Given the description of an element on the screen output the (x, y) to click on. 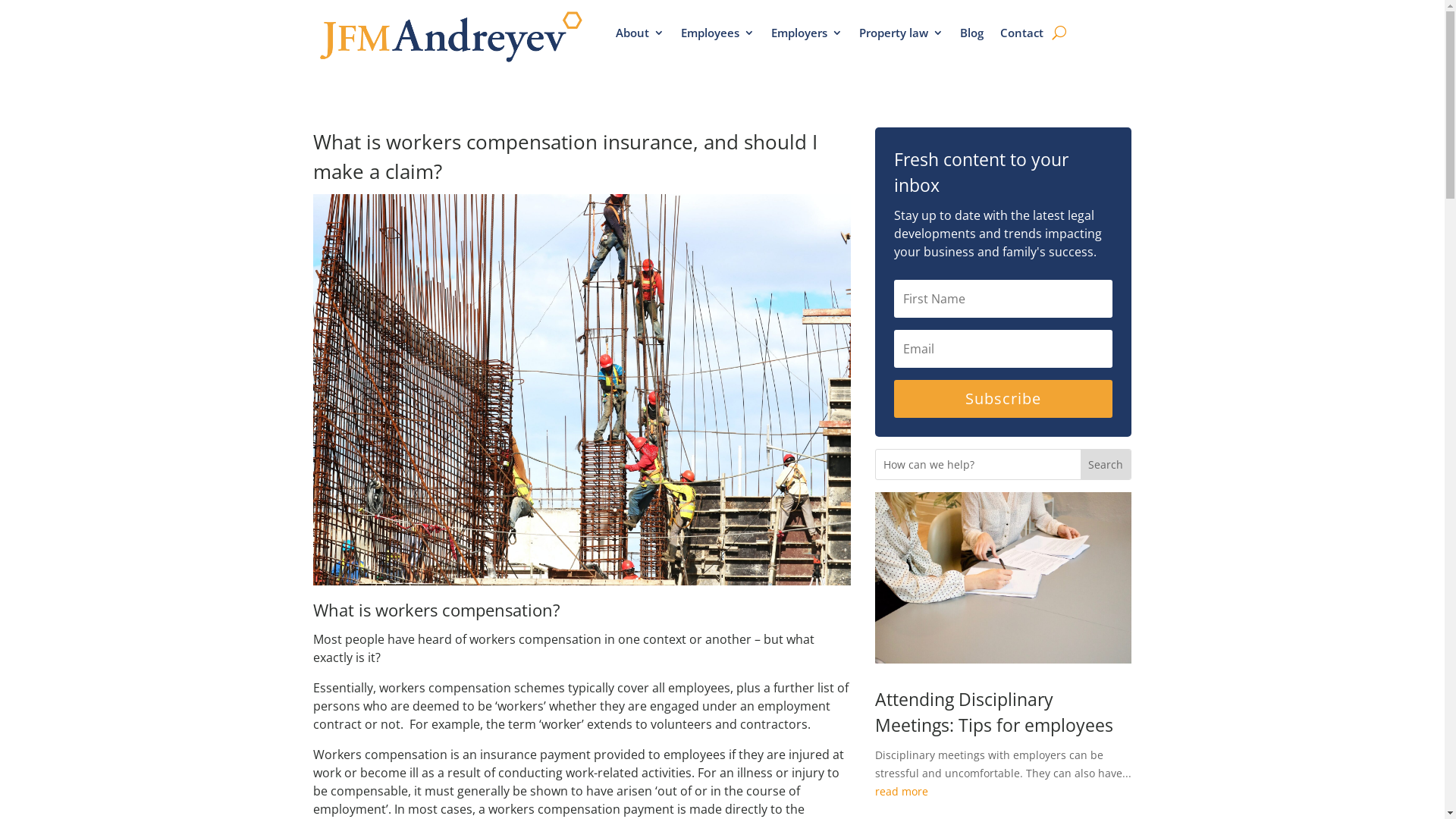
About Element type: text (639, 32)
Contact Element type: text (1021, 32)
Property law Element type: text (901, 32)
read more Element type: text (1003, 791)
Employers Element type: text (806, 32)
Attending Disciplinary Meetings: Tips for employees Element type: text (994, 712)
Employees Element type: text (717, 32)
Subscribe Element type: text (1003, 398)
Search Element type: text (1105, 464)
Blog Element type: text (971, 32)
